Given the description of an element on the screen output the (x, y) to click on. 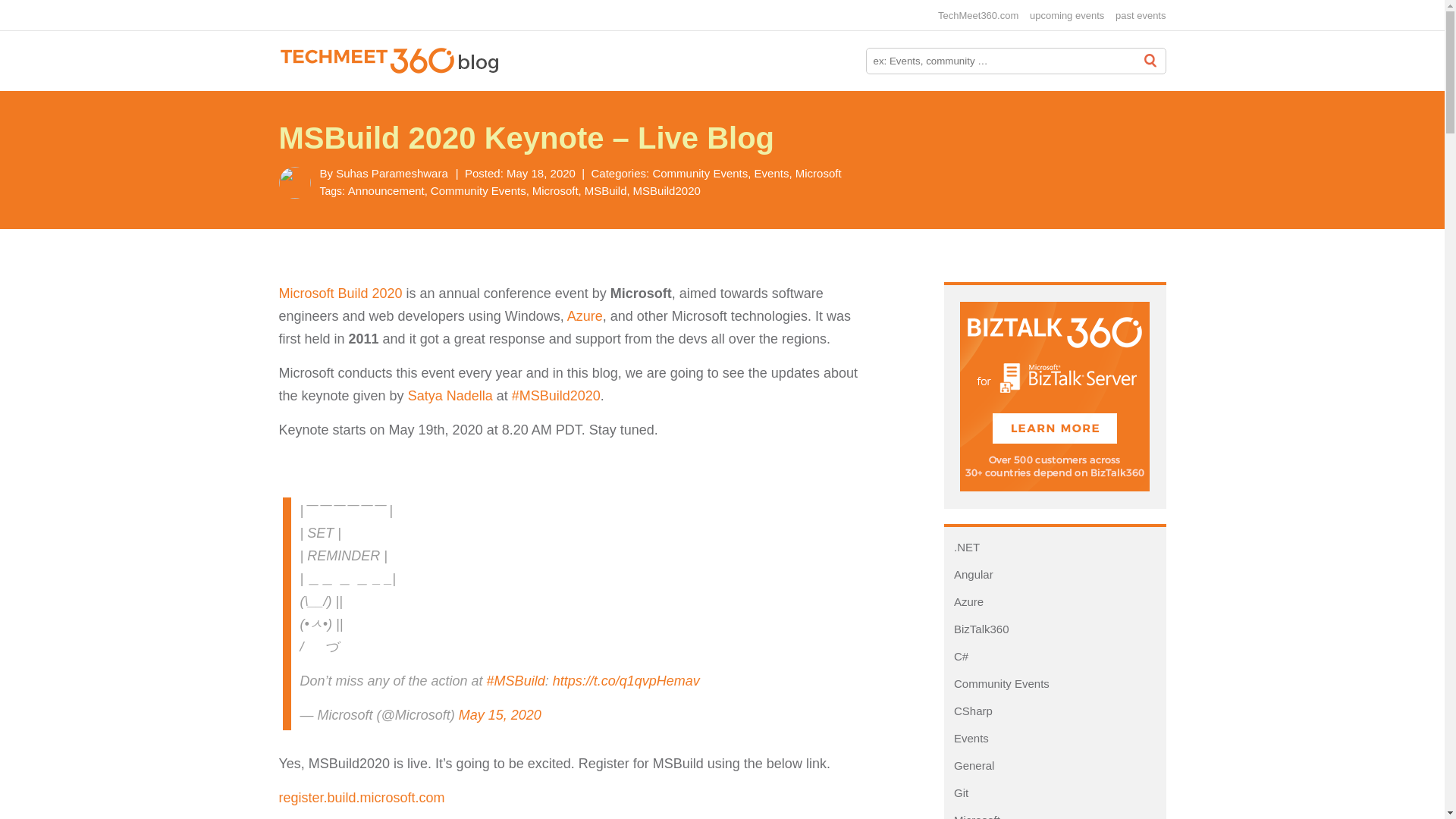
Community Events (997, 683)
Events (773, 173)
Azure (584, 315)
Microsoft (817, 173)
.NET (962, 546)
By Suhas Parameshwara (384, 173)
Azure (965, 601)
General (970, 765)
past events (1140, 15)
MSBuild2020 (666, 190)
Search for: (1016, 60)
CSharp (969, 710)
Microsoft (973, 816)
Angular (969, 574)
May 15, 2020 (499, 714)
